Given the description of an element on the screen output the (x, y) to click on. 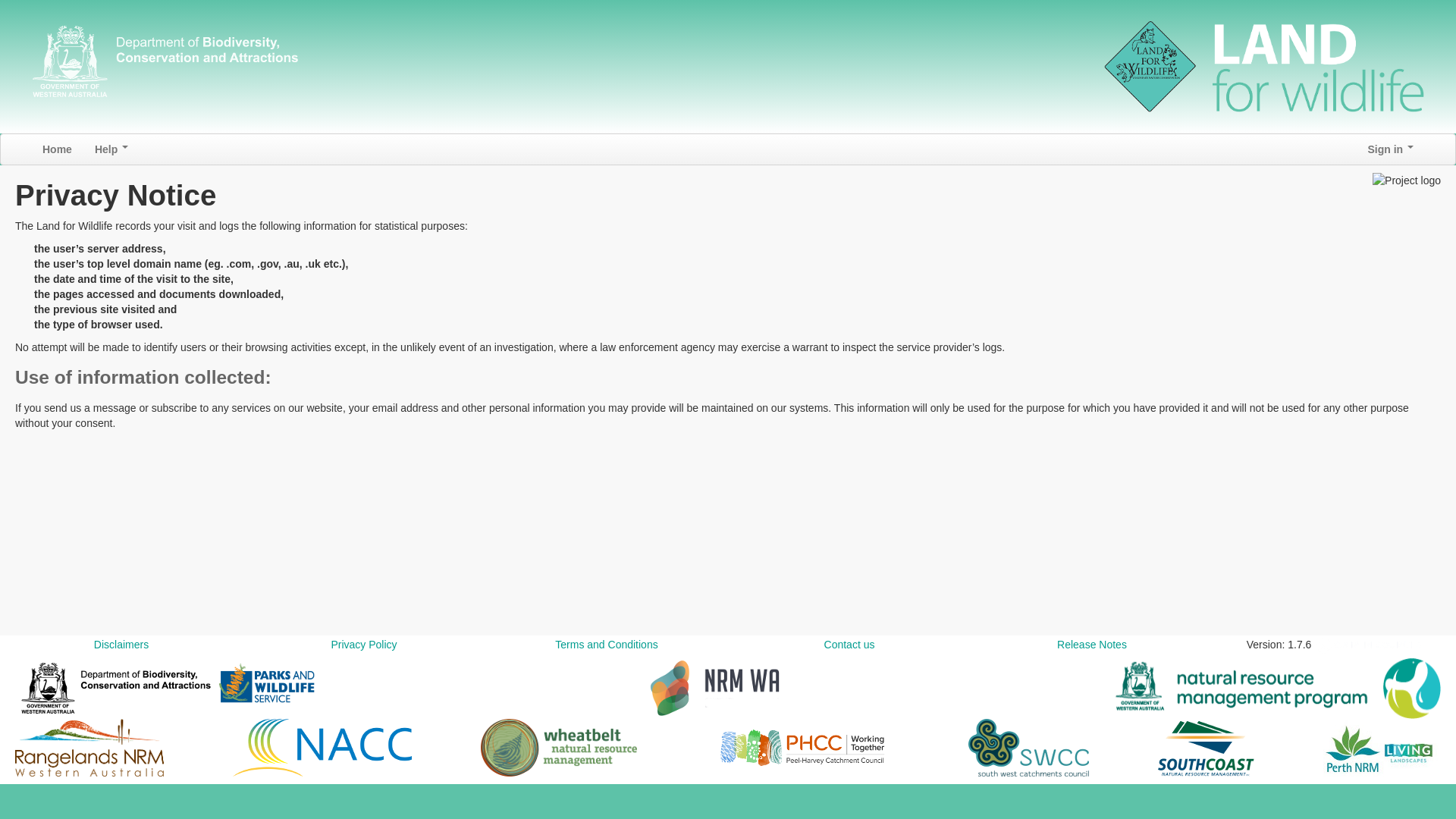
Terms and Conditions Element type: text (606, 644)
Home Element type: text (57, 149)
Disclaimers Element type: text (121, 644)
Project logo Element type: hover (1406, 180)
Sign in  Element type: text (1389, 149)
Contact us Element type: text (849, 644)
Release Notes Element type: text (1091, 644)
Privacy Policy Element type: text (363, 644)
Help Element type: text (111, 149)
